Given the description of an element on the screen output the (x, y) to click on. 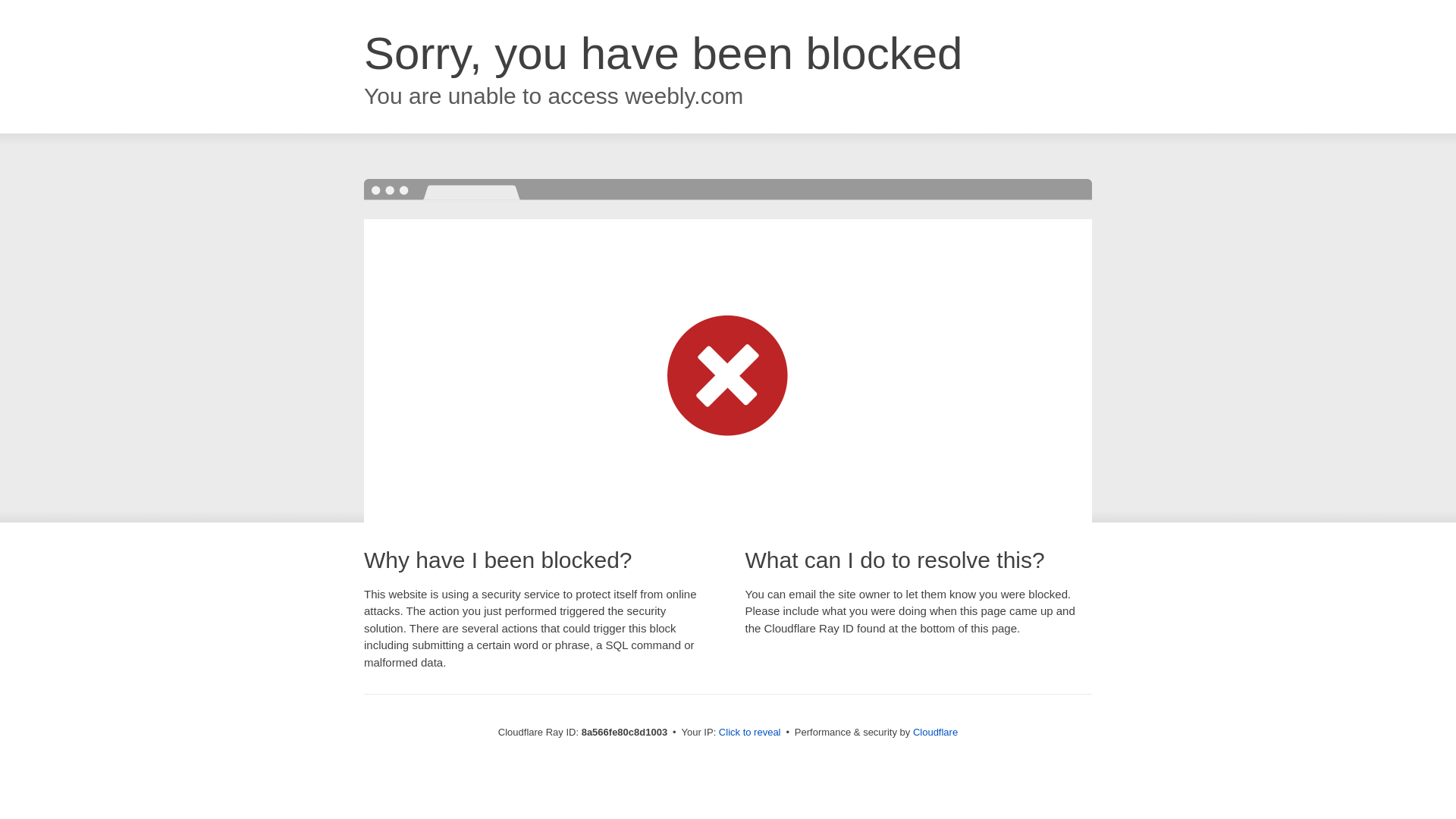
Click to reveal (749, 732)
Cloudflare (935, 731)
